Given the description of an element on the screen output the (x, y) to click on. 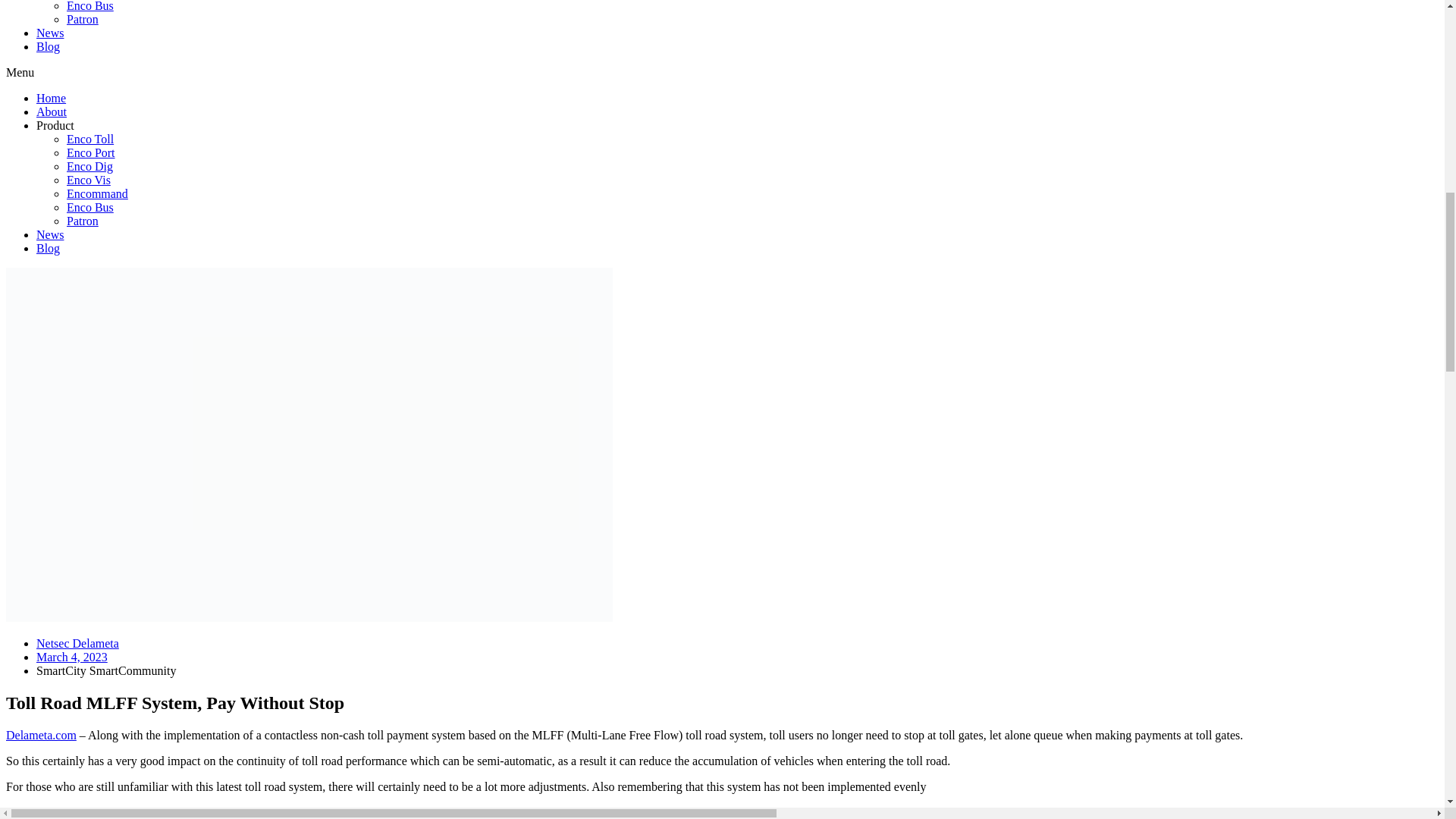
Enco Bus (89, 6)
Enco Vis (88, 179)
Patron (82, 220)
Encommand (97, 193)
Enco Dig (89, 165)
Patron (82, 19)
Blog (47, 247)
News (50, 234)
Home (50, 97)
Product (55, 124)
